Given the description of an element on the screen output the (x, y) to click on. 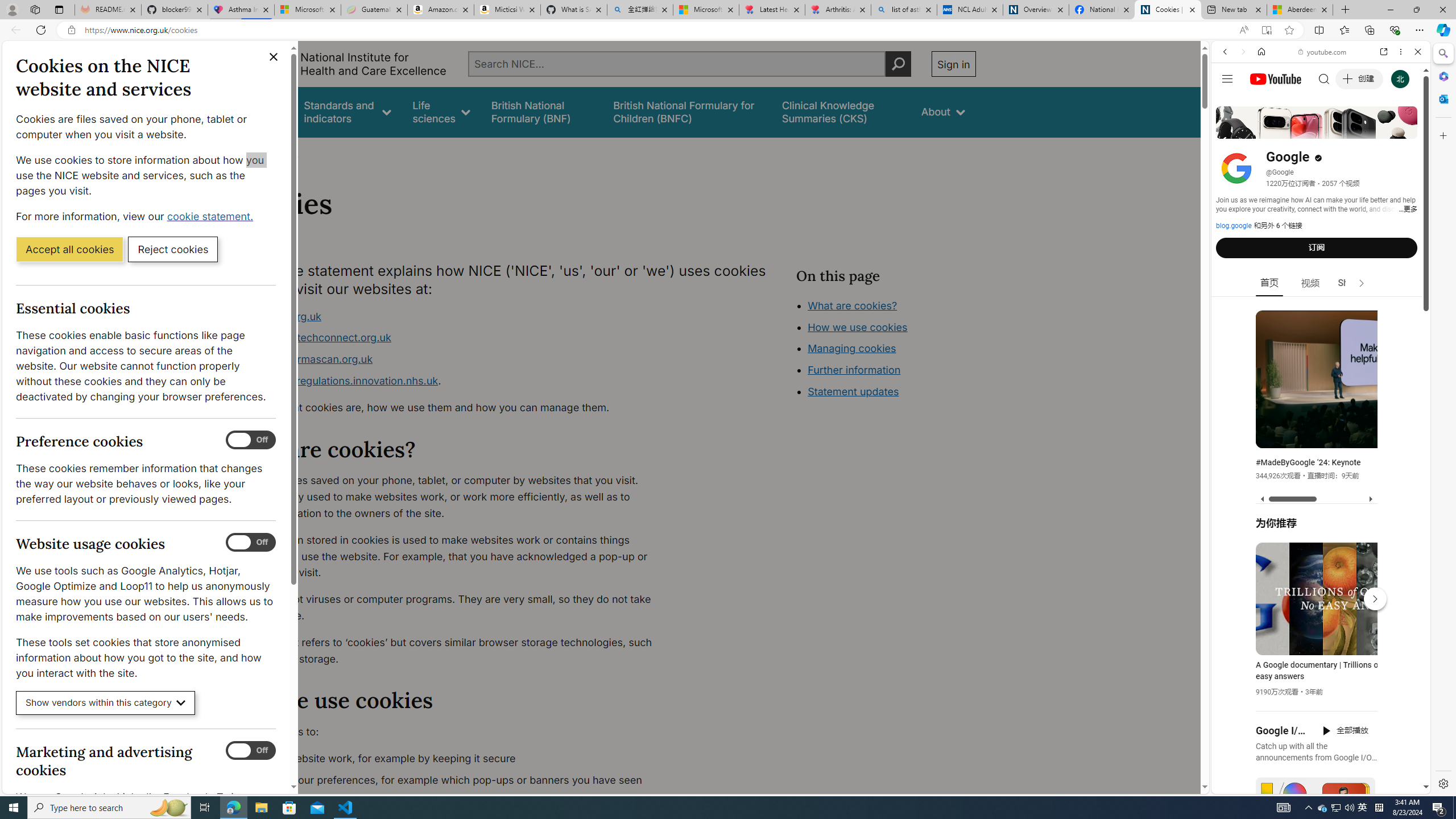
What are cookies? (852, 305)
MadeByGoogle '24: Intro (1391, 437)
About (283, 152)
Google (1320, 281)
www.healthtechconnect.org.uk (314, 337)
